Given the description of an element on the screen output the (x, y) to click on. 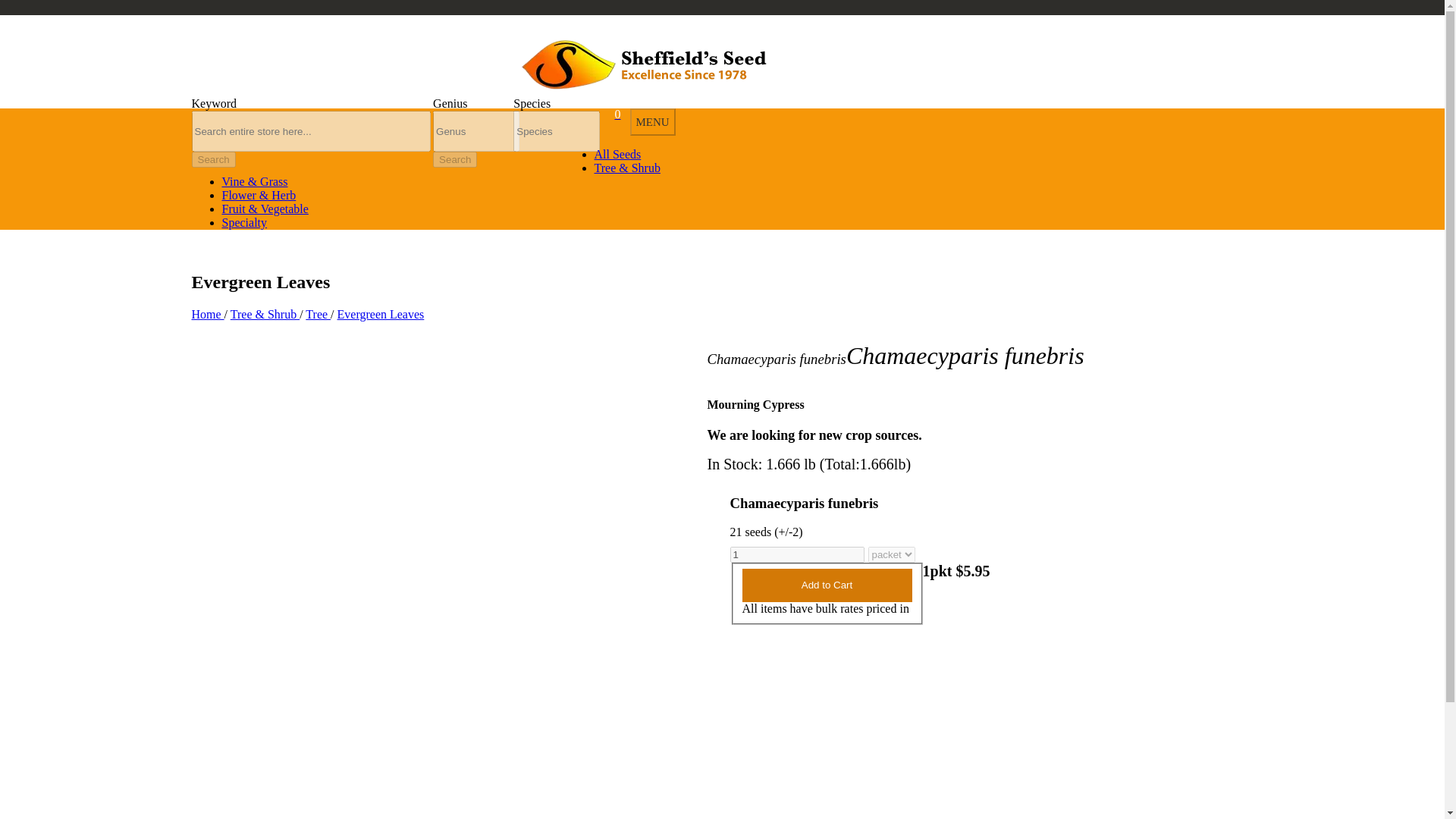
Catalog (328, 34)
All Seeds (618, 154)
Evergreen Leaves (381, 314)
Tree (317, 314)
Add to Cart (826, 584)
New Arrivals (236, 34)
MENU (651, 121)
species (556, 130)
Add to Cart (826, 584)
Home (207, 314)
Search (454, 159)
0 (612, 113)
1 (796, 554)
Search (212, 159)
Specialty (243, 222)
